Given the description of an element on the screen output the (x, y) to click on. 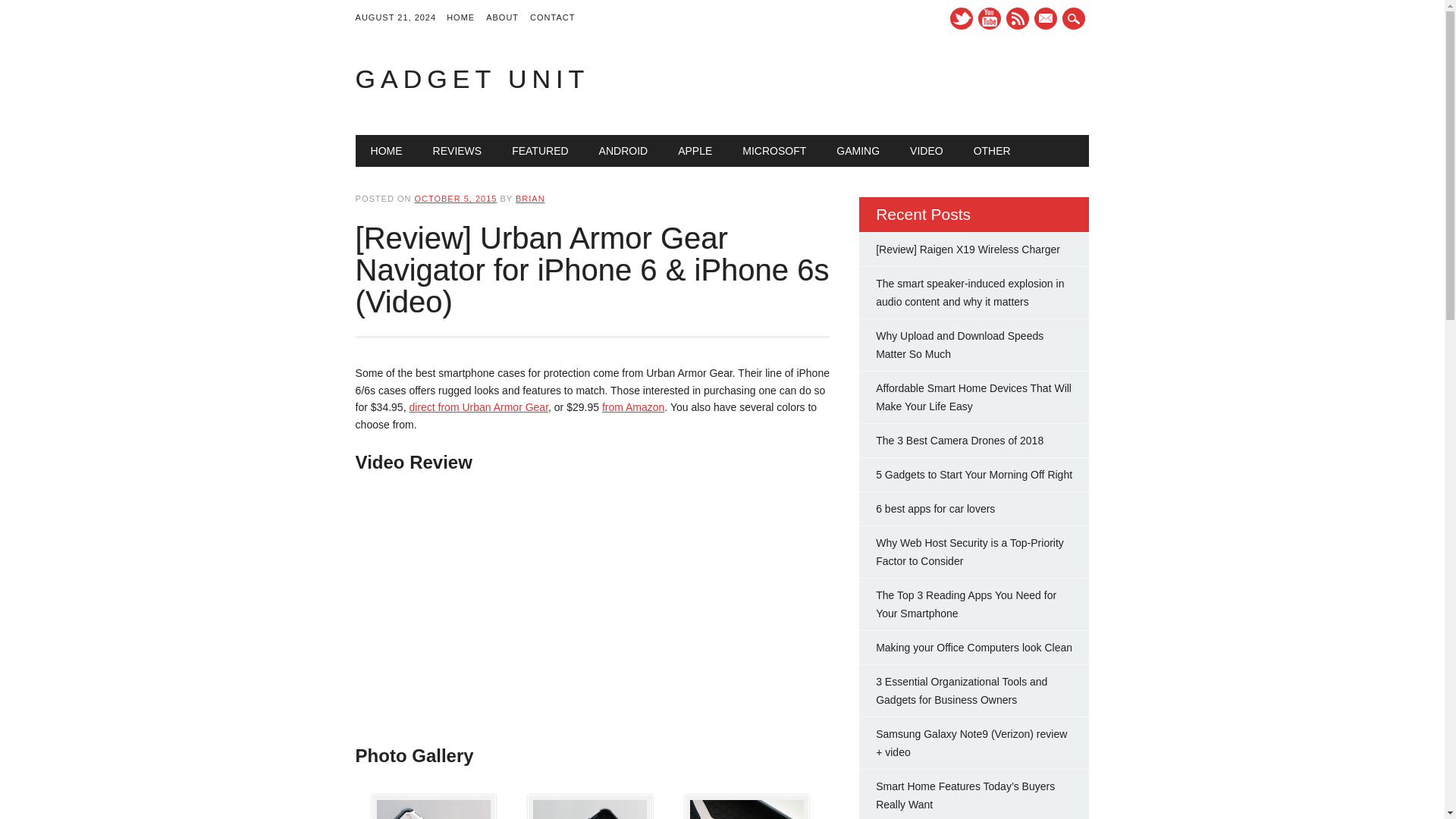
HOME (386, 151)
RSS (1017, 18)
REVIEWS (457, 151)
Youtube (989, 18)
GAMING (858, 151)
Gadget Unit (472, 78)
ANDROID (623, 151)
View all posts by Brian (529, 198)
MICROSOFT (773, 151)
CONTACT (557, 17)
